Given the description of an element on the screen output the (x, y) to click on. 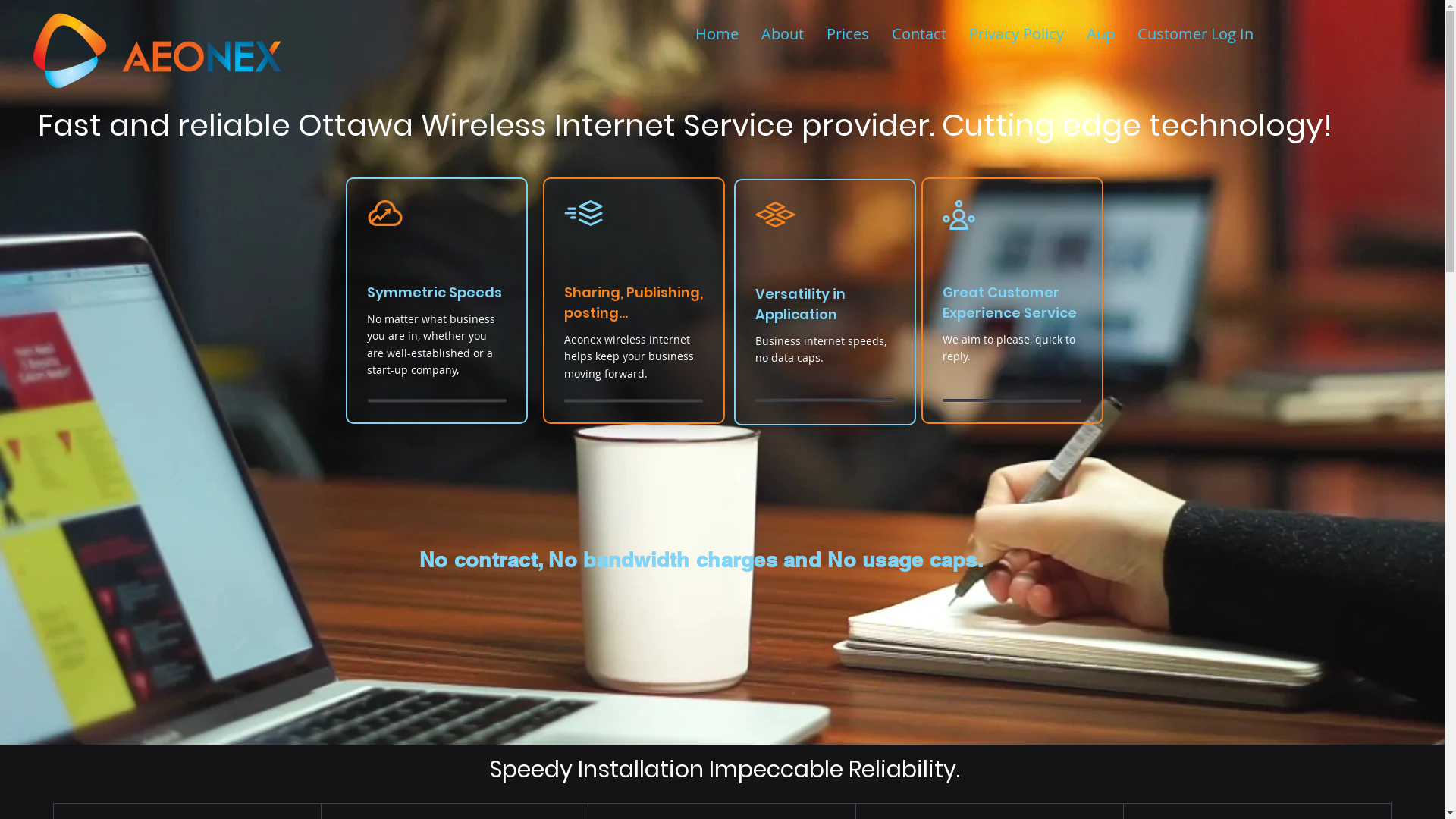
Prices Element type: text (847, 34)
aeonex2.png Element type: hover (154, 48)
Customer Log In Element type: text (1195, 34)
Privacy Policy Element type: text (1016, 34)
About Element type: text (782, 34)
Home Element type: text (716, 34)
Aup Element type: text (1100, 34)
Contact Element type: text (918, 34)
